Given the description of an element on the screen output the (x, y) to click on. 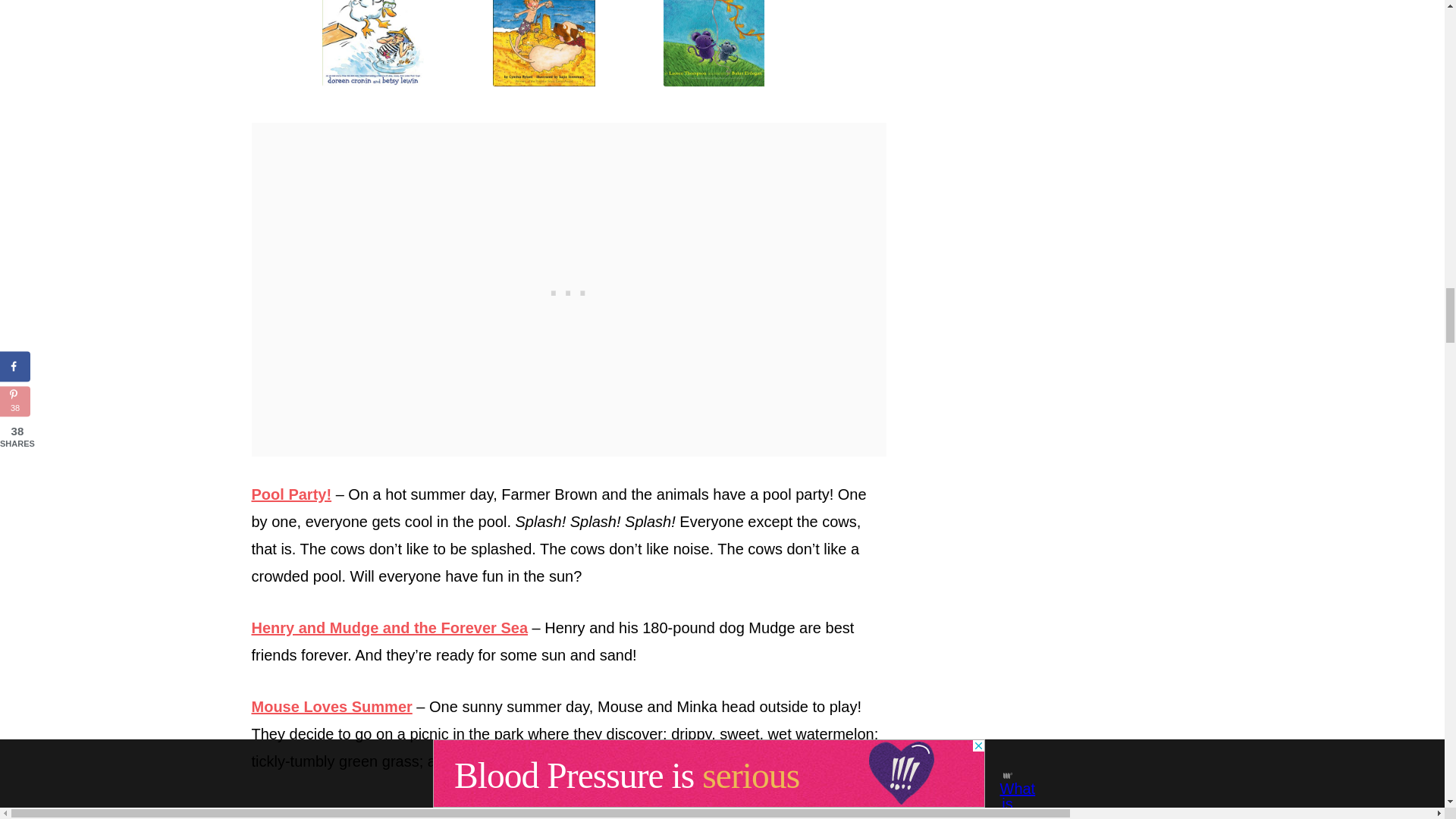
Mouse Loves Summer (739, 44)
